Given the description of an element on the screen output the (x, y) to click on. 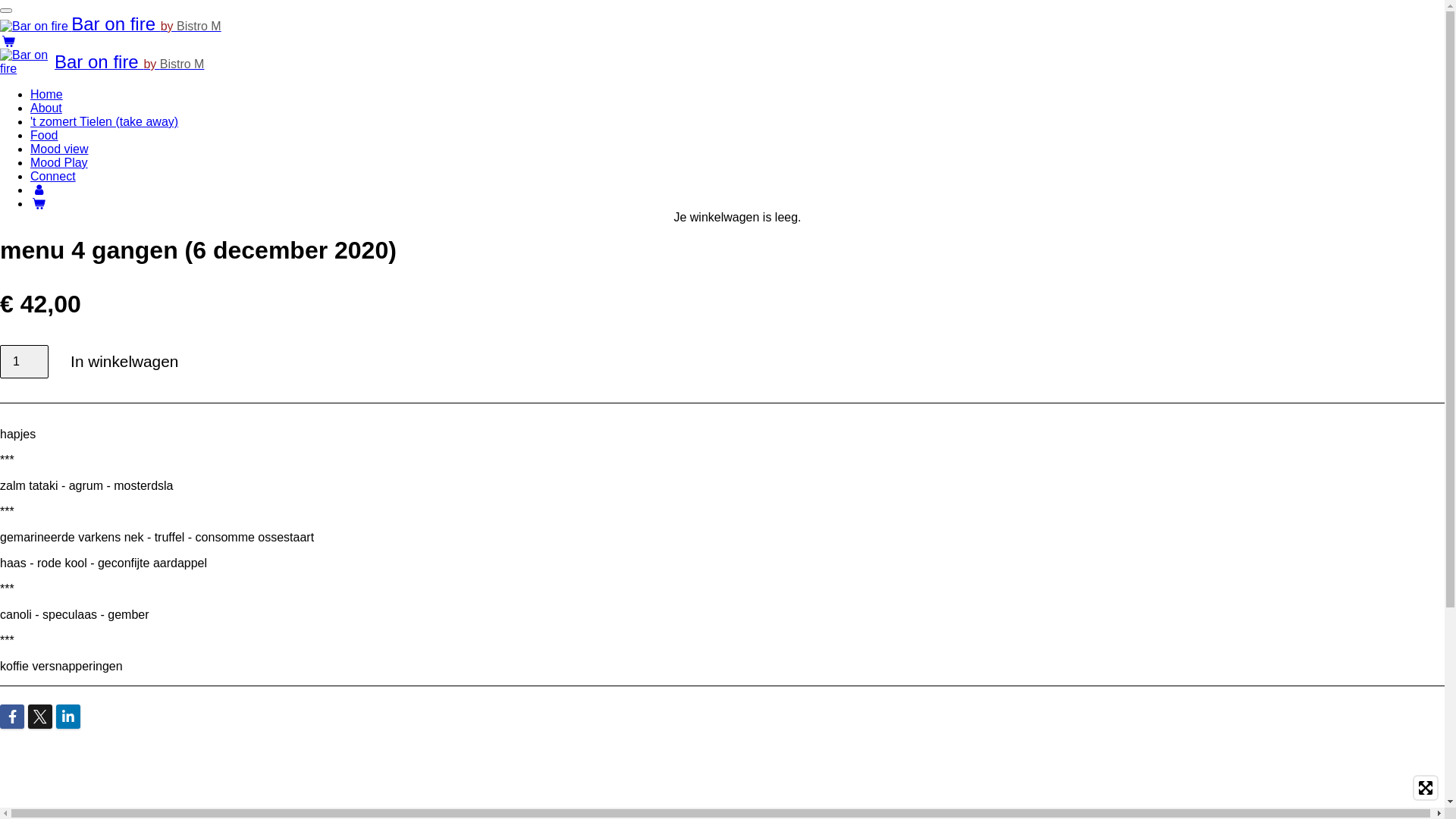
Connect Element type: text (52, 175)
About Element type: text (46, 107)
Bar on fire by Bistro M Element type: text (128, 63)
Bar on fire Element type: hover (34, 26)
In winkelwagen Element type: text (124, 362)
Mood Play Element type: text (58, 162)
Account Element type: hover (38, 189)
Bar on fire by Bistro M Element type: text (110, 25)
Mood view Element type: text (58, 148)
't zomert Tielen (take away) Element type: text (104, 121)
Home Element type: text (46, 93)
Bekijk winkelwagen Element type: hover (38, 203)
Bar on fire Element type: hover (27, 61)
Food Element type: text (43, 134)
